Given the description of an element on the screen output the (x, y) to click on. 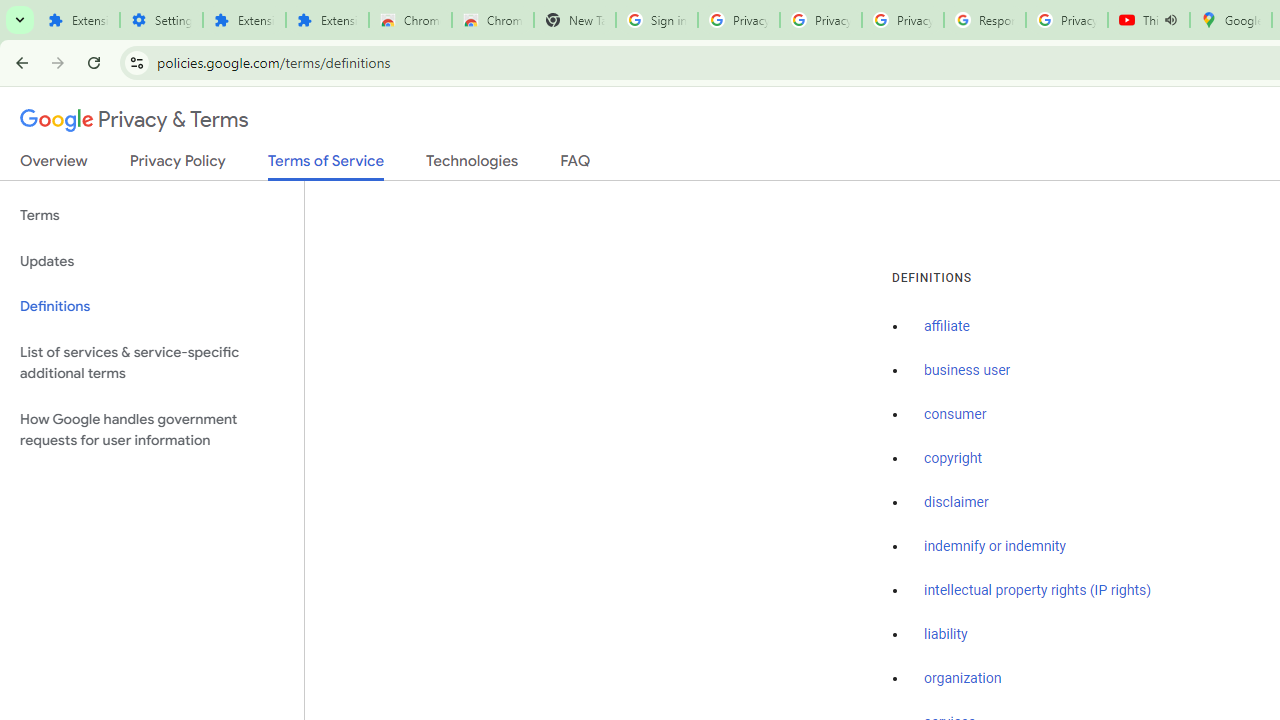
disclaimer (956, 502)
intellectual property rights (IP rights) (1038, 590)
affiliate (947, 327)
consumer (955, 415)
